Given the description of an element on the screen output the (x, y) to click on. 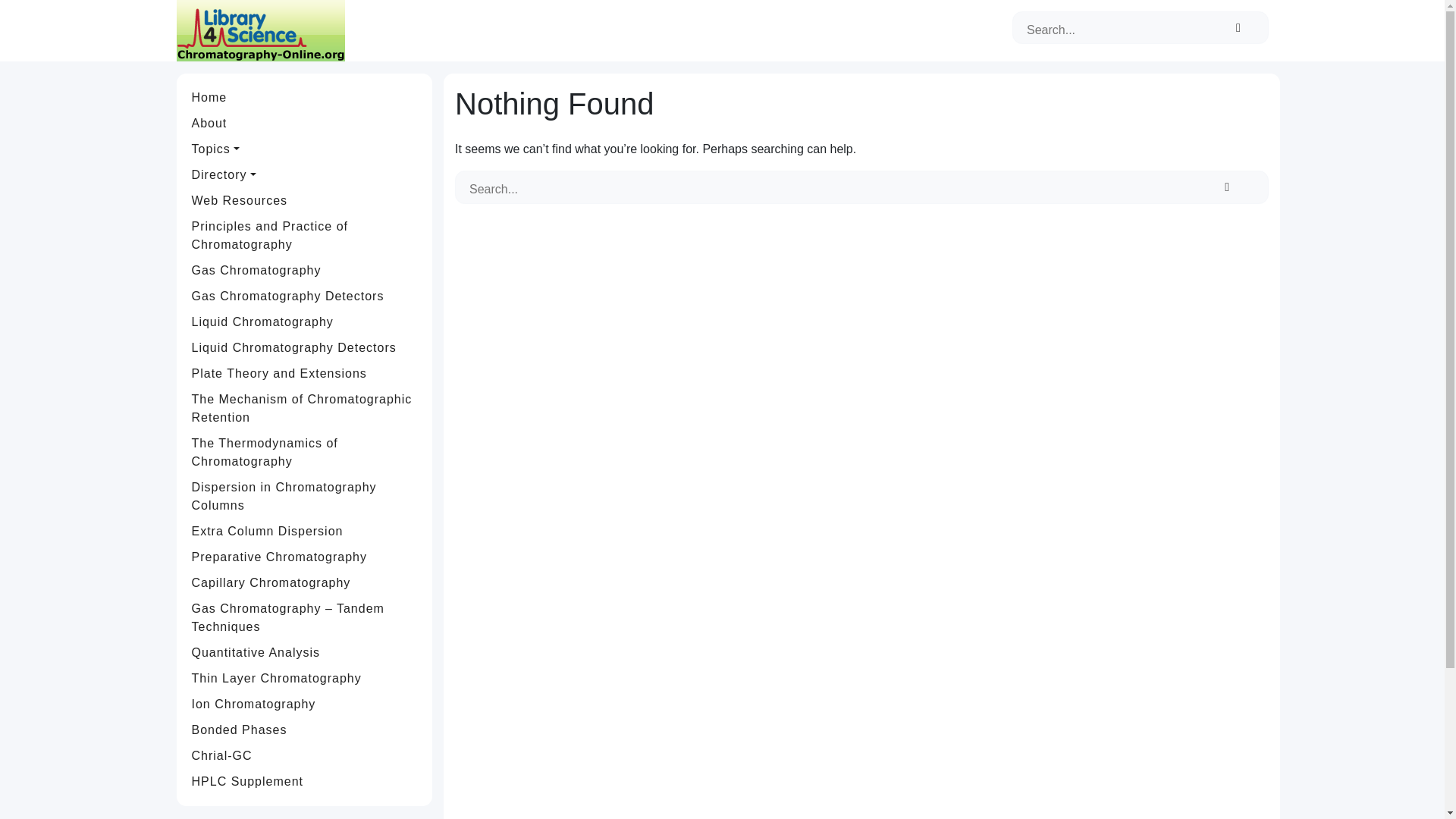
Principles and Practice of Chromatography (304, 235)
Dispersion in Chromatography Columns (304, 496)
Extra Column Dispersion (304, 531)
Thin Layer Chromatography (304, 678)
About (304, 123)
Topics (304, 149)
The Thermodynamics of Chromatography (304, 452)
HPLC Supplement (304, 781)
Capillary Chromatography (304, 583)
Directory (304, 175)
Ion Chromatography (304, 704)
Quantitative Analysis (304, 652)
Liquid Chromatography Detectors (304, 347)
Liquid Chromatography (304, 321)
chromatography-online (259, 29)
